Given the description of an element on the screen output the (x, y) to click on. 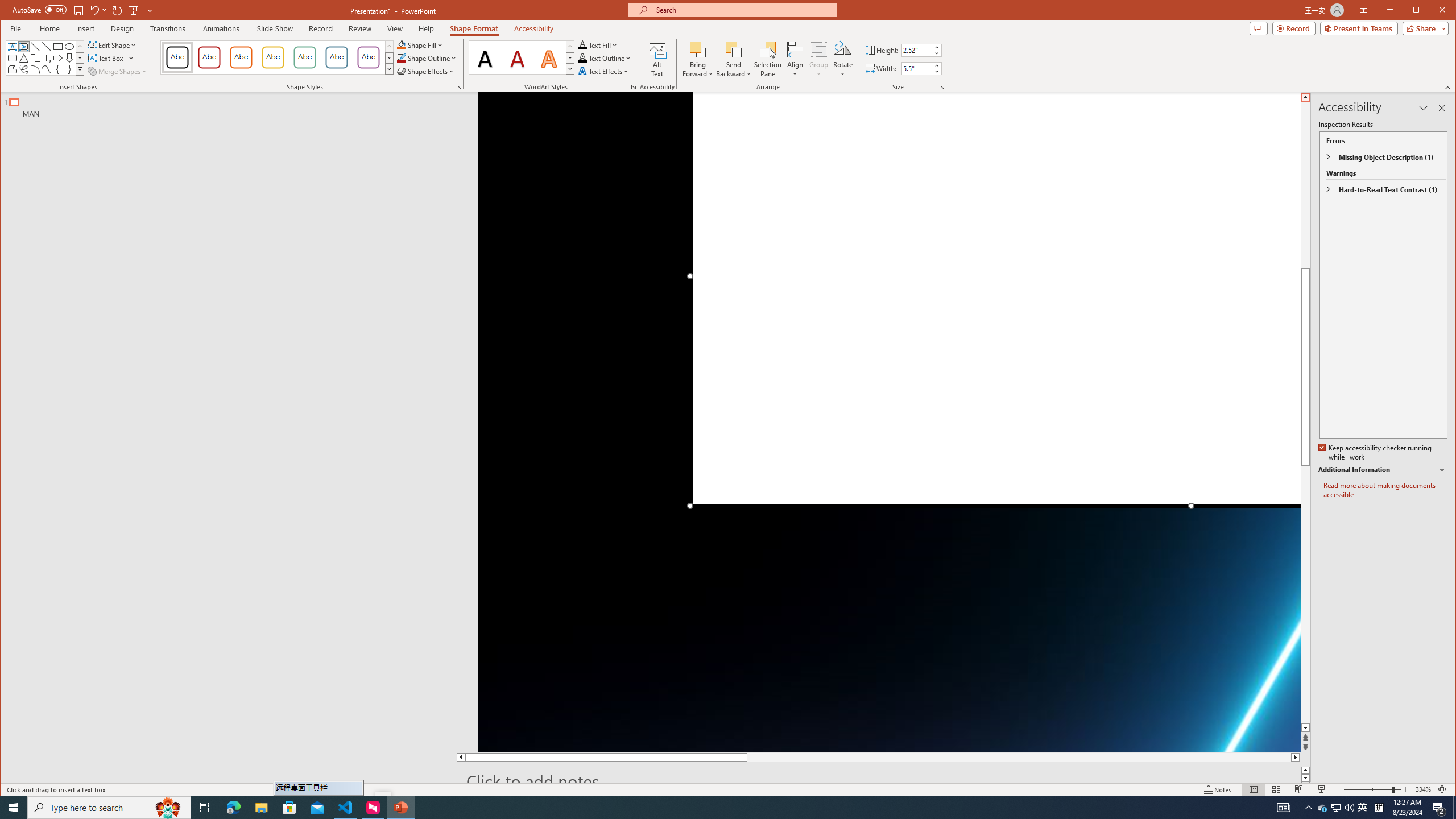
Fill: Black, Text color 1; Shadow (486, 57)
Neon laser lights aligned to form a triangle (889, 421)
